Given the description of an element on the screen output the (x, y) to click on. 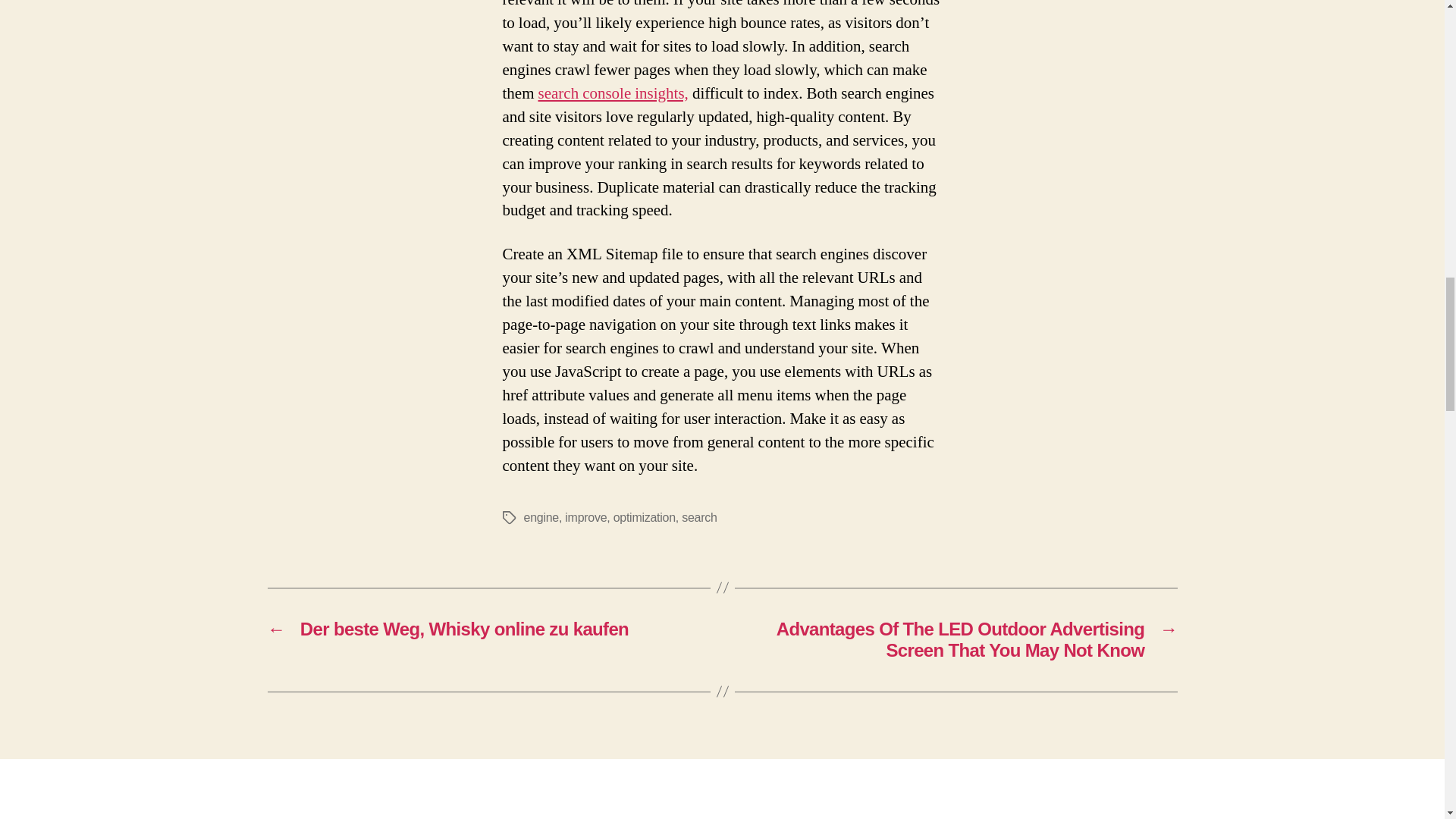
search console insights, (613, 93)
improve (585, 517)
engine (539, 517)
optimization (643, 517)
search (698, 517)
